Given the description of an element on the screen output the (x, y) to click on. 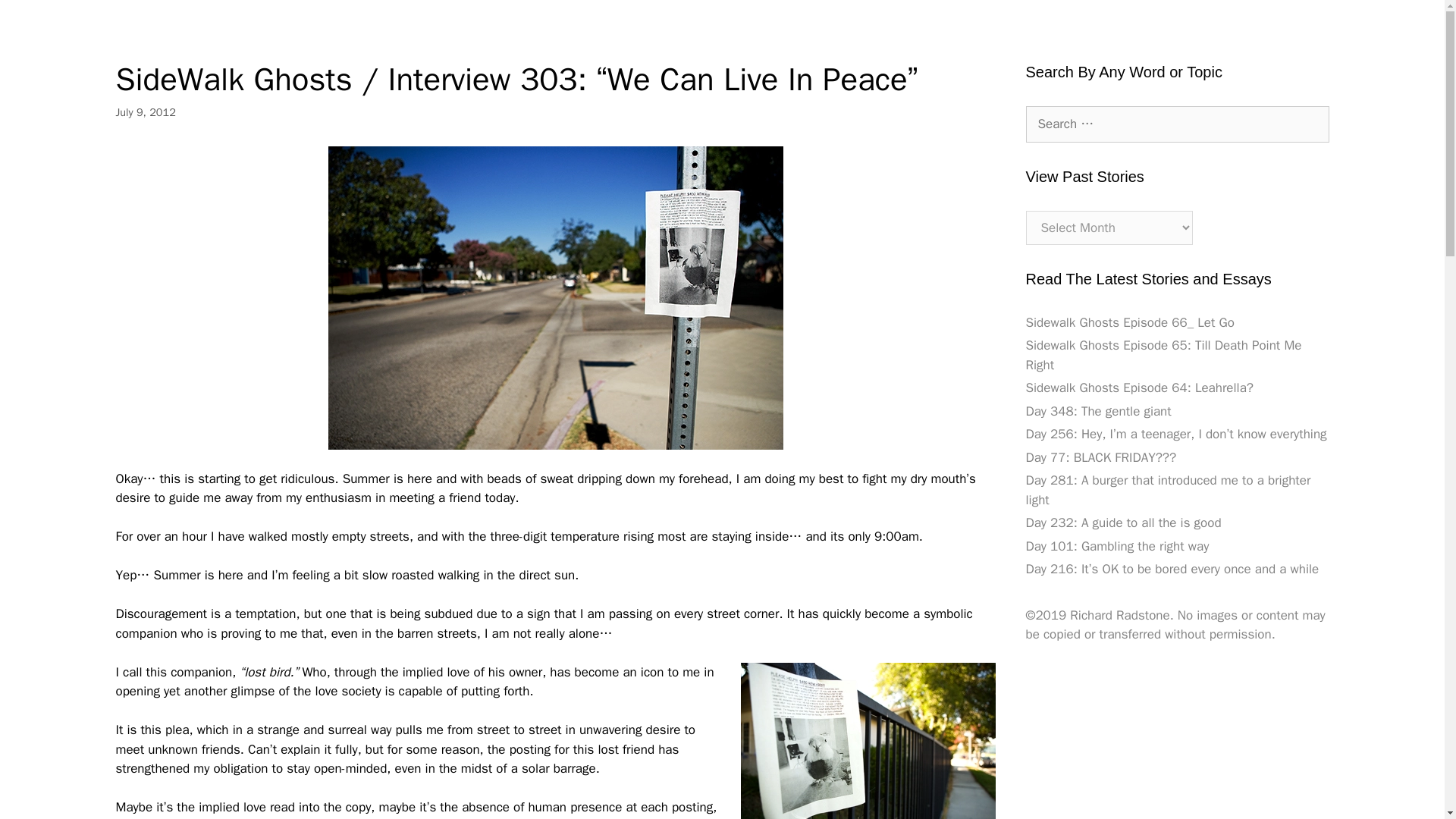
Sidewalk Ghosts Episode 64: Leahrella? (1138, 387)
Sidewalk Ghosts Episode 65: Till Death Point Me Right (1163, 355)
Search for: (1176, 124)
Day 348: The gentle giant (1097, 411)
Day 77: BLACK FRIDAY??? (1100, 456)
Day 101: Gambling the right way (1116, 546)
fdsfsd (866, 740)
Day 281: A burger that introduced me to a brighter light (1167, 489)
Day 232: A guide to all the is good (1123, 522)
Search (35, 18)
